Given the description of an element on the screen output the (x, y) to click on. 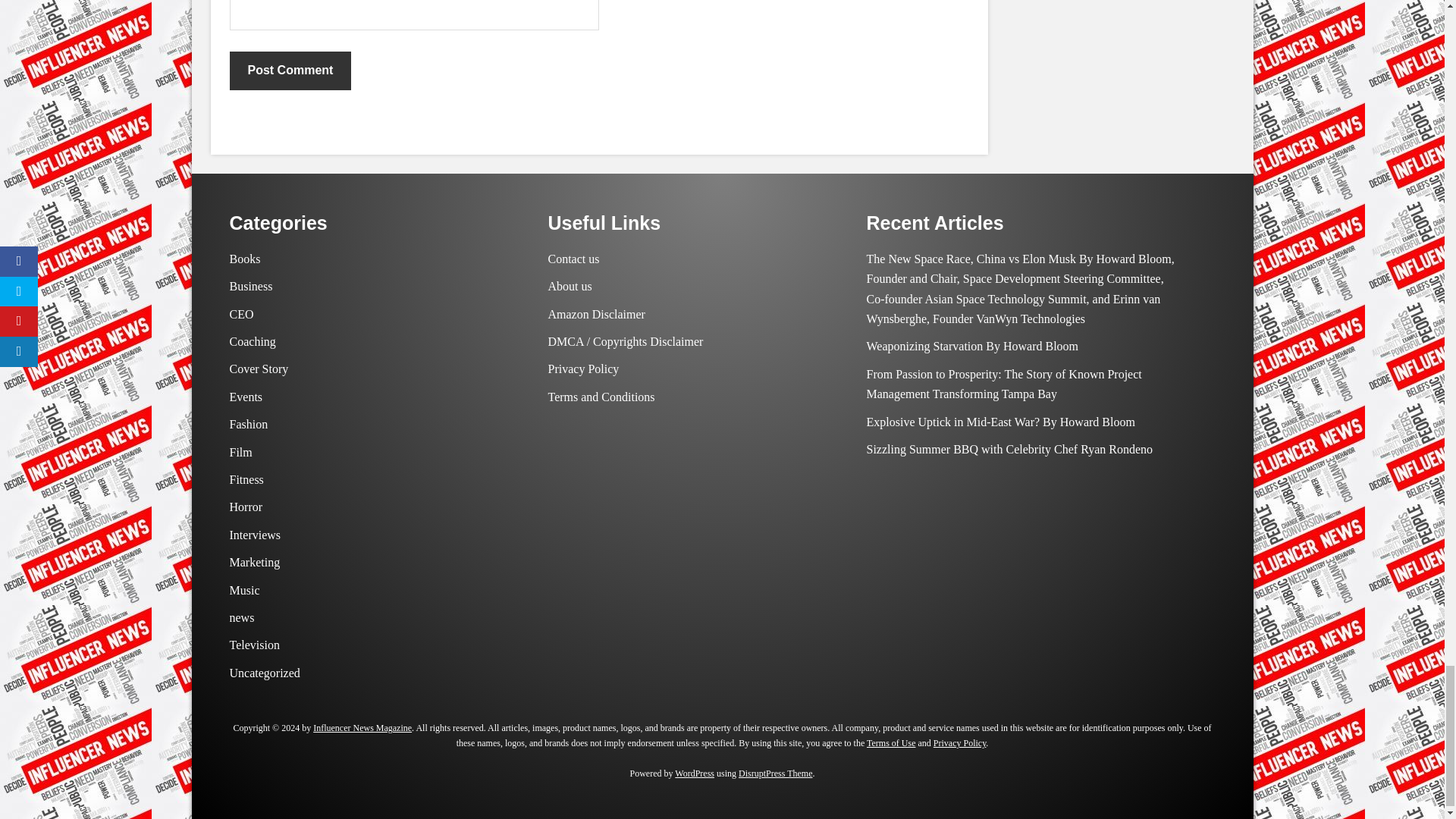
Post Comment (289, 70)
